Given the description of an element on the screen output the (x, y) to click on. 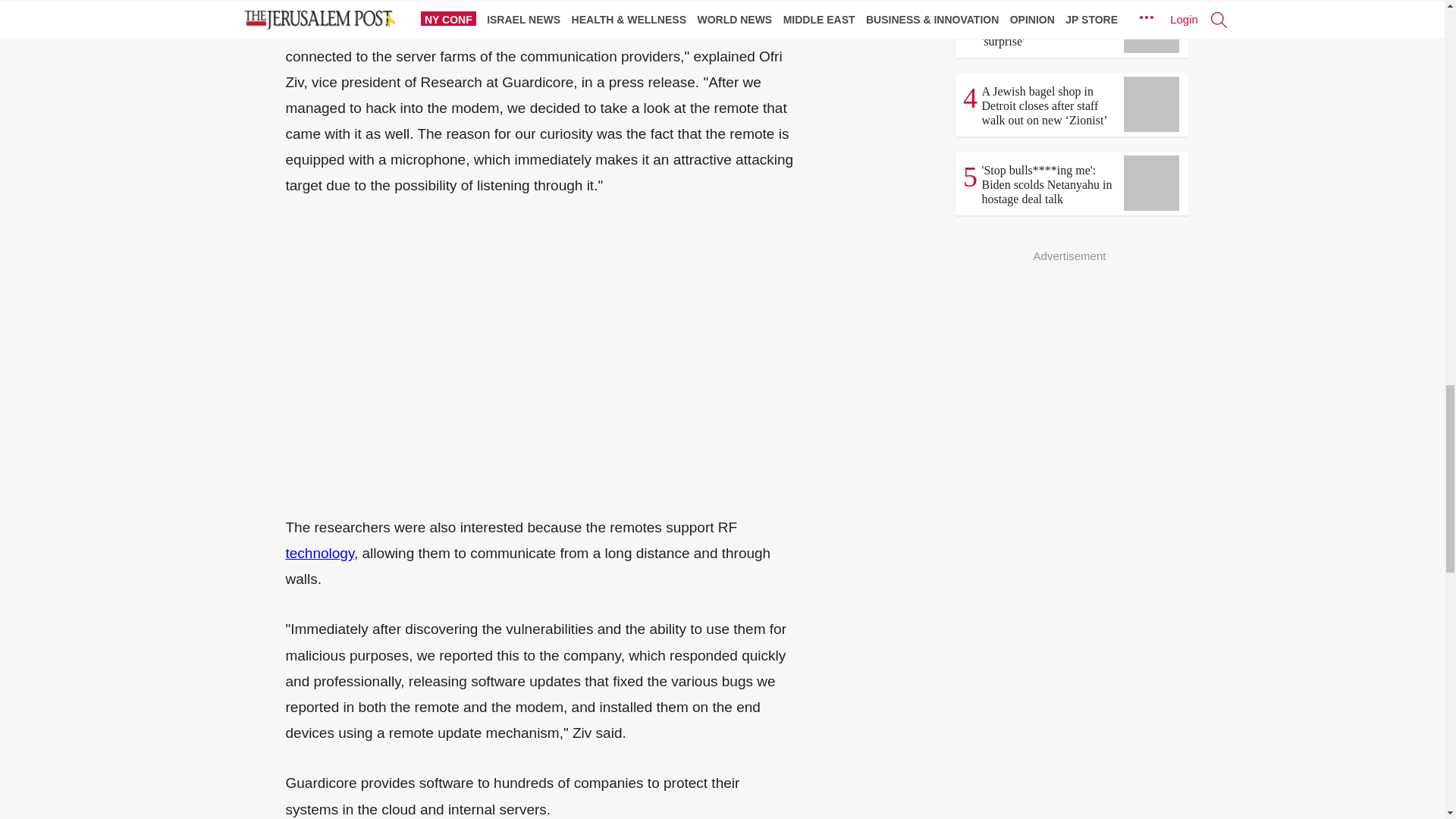
technology (319, 553)
